Given the description of an element on the screen output the (x, y) to click on. 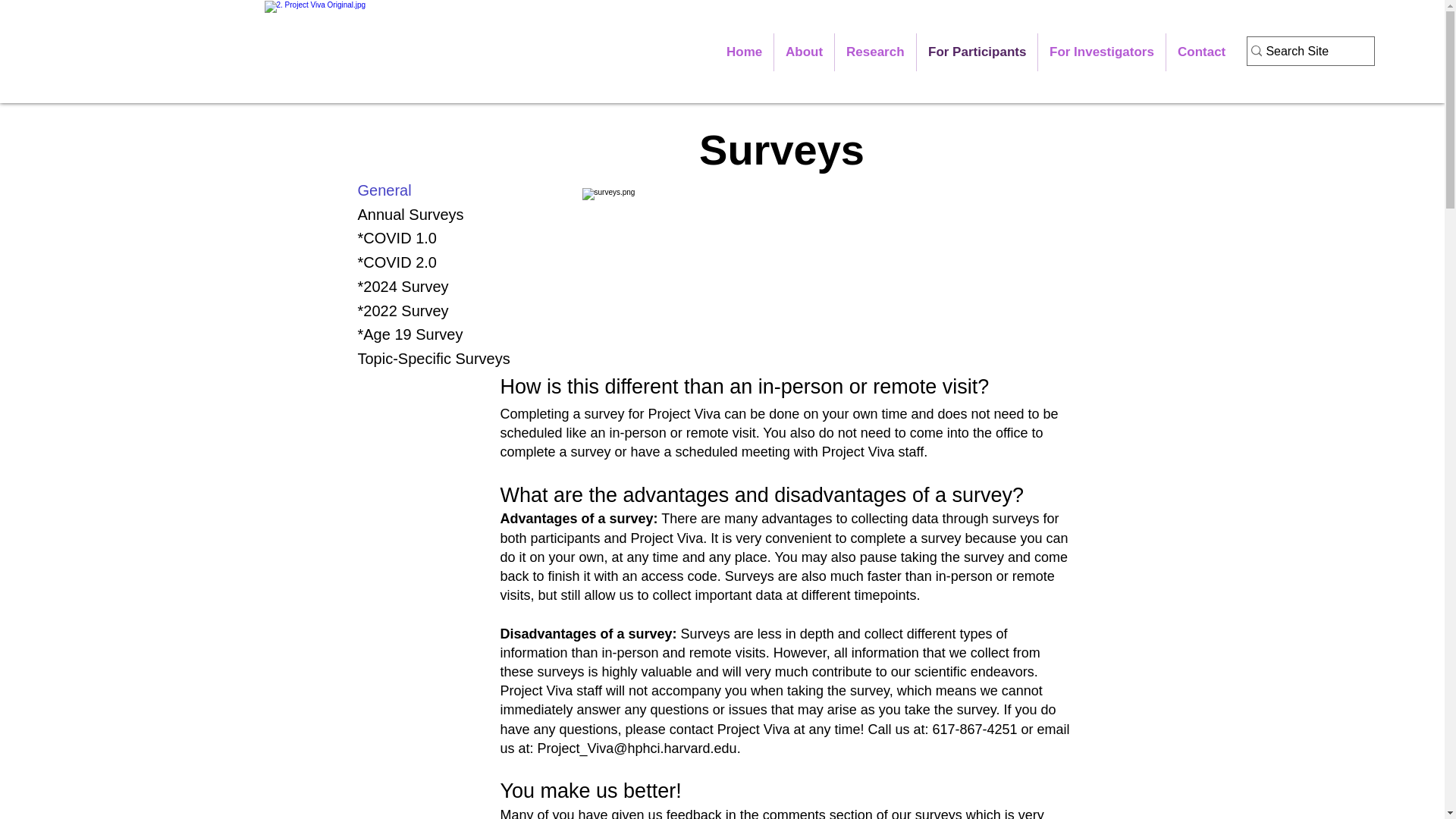
Contact (1201, 52)
Annual Surveys (412, 214)
For Participants (976, 52)
Home (743, 52)
For Investigators (1102, 52)
Topic-Specific Surveys (412, 358)
General (412, 189)
Research (874, 52)
About (804, 52)
